Given the description of an element on the screen output the (x, y) to click on. 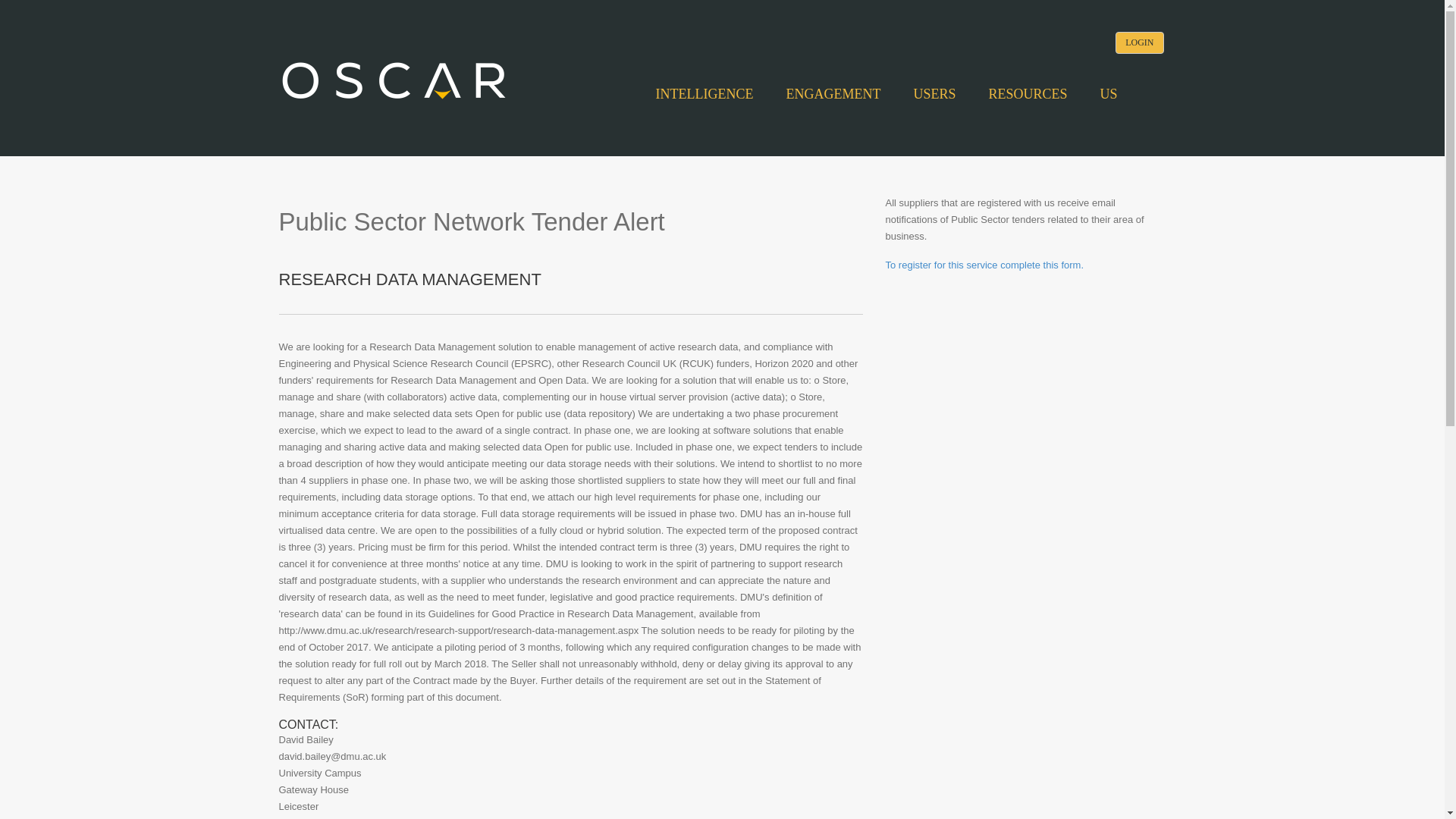
INTELLIGENCE (703, 94)
RESOURCES (1027, 94)
To register for this service complete this form. (984, 265)
US (1107, 94)
USERS (933, 94)
ENGAGEMENT (833, 94)
LOGIN (1139, 42)
